Given the description of an element on the screen output the (x, y) to click on. 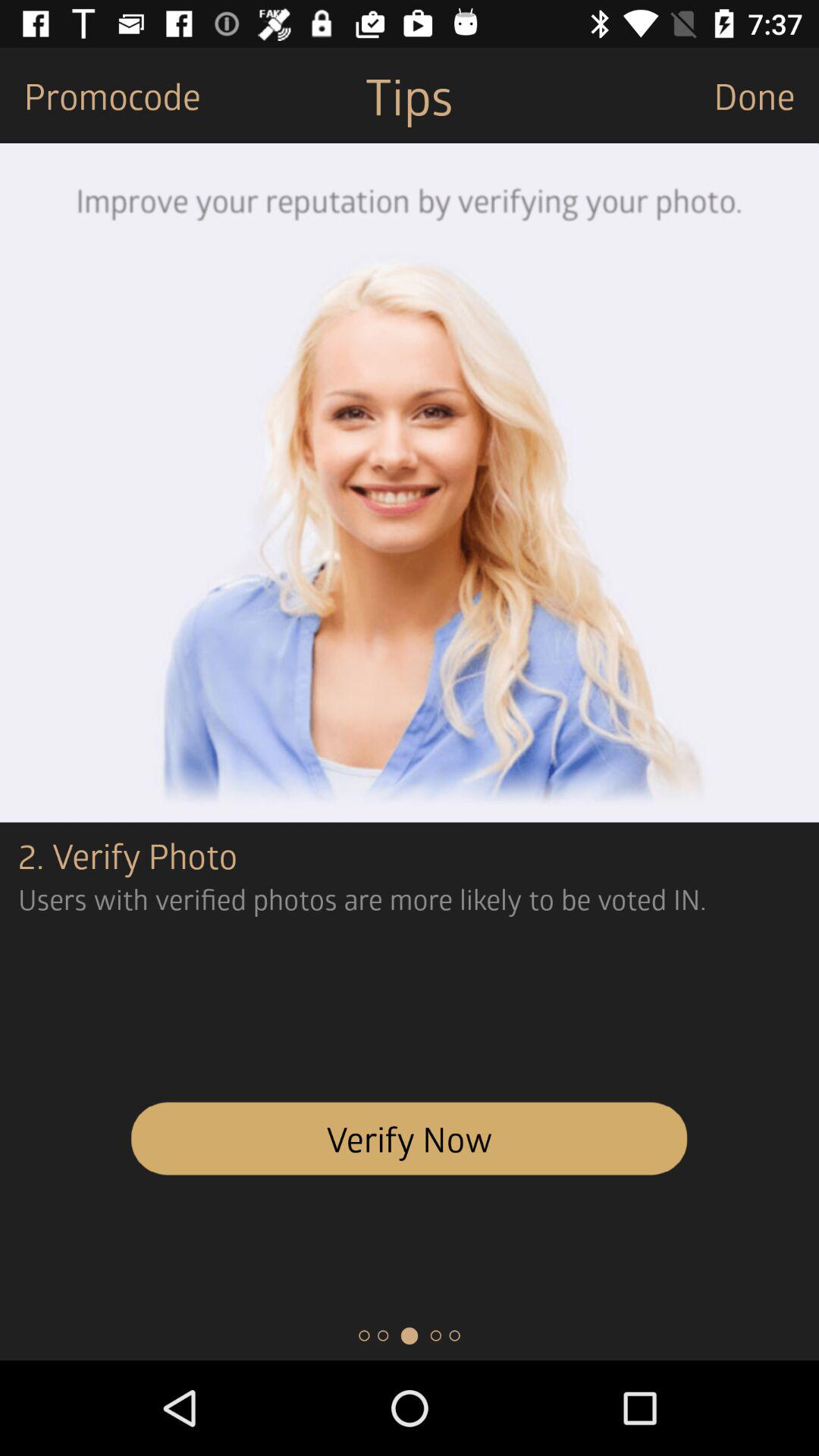
open the item next to tips icon (766, 95)
